Given the description of an element on the screen output the (x, y) to click on. 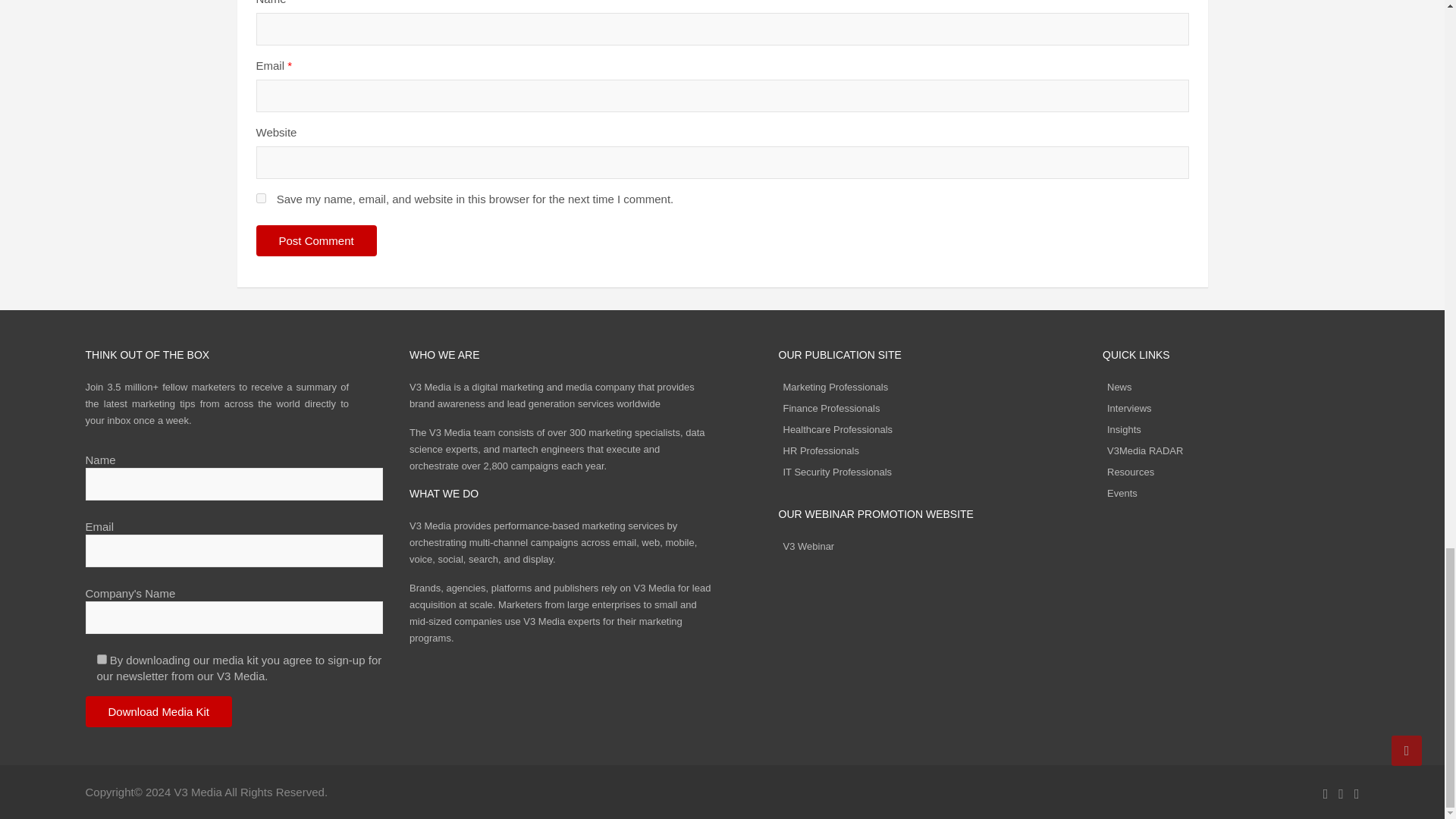
Finance Professionals (831, 408)
Download Media Kit (157, 711)
yes (261, 198)
IT Security Professionals (837, 471)
HR Professionals (821, 450)
Post Comment (316, 240)
Healthcare Professionals (837, 429)
Download Media Kit (157, 711)
Marketing Professionals (835, 387)
